Given the description of an element on the screen output the (x, y) to click on. 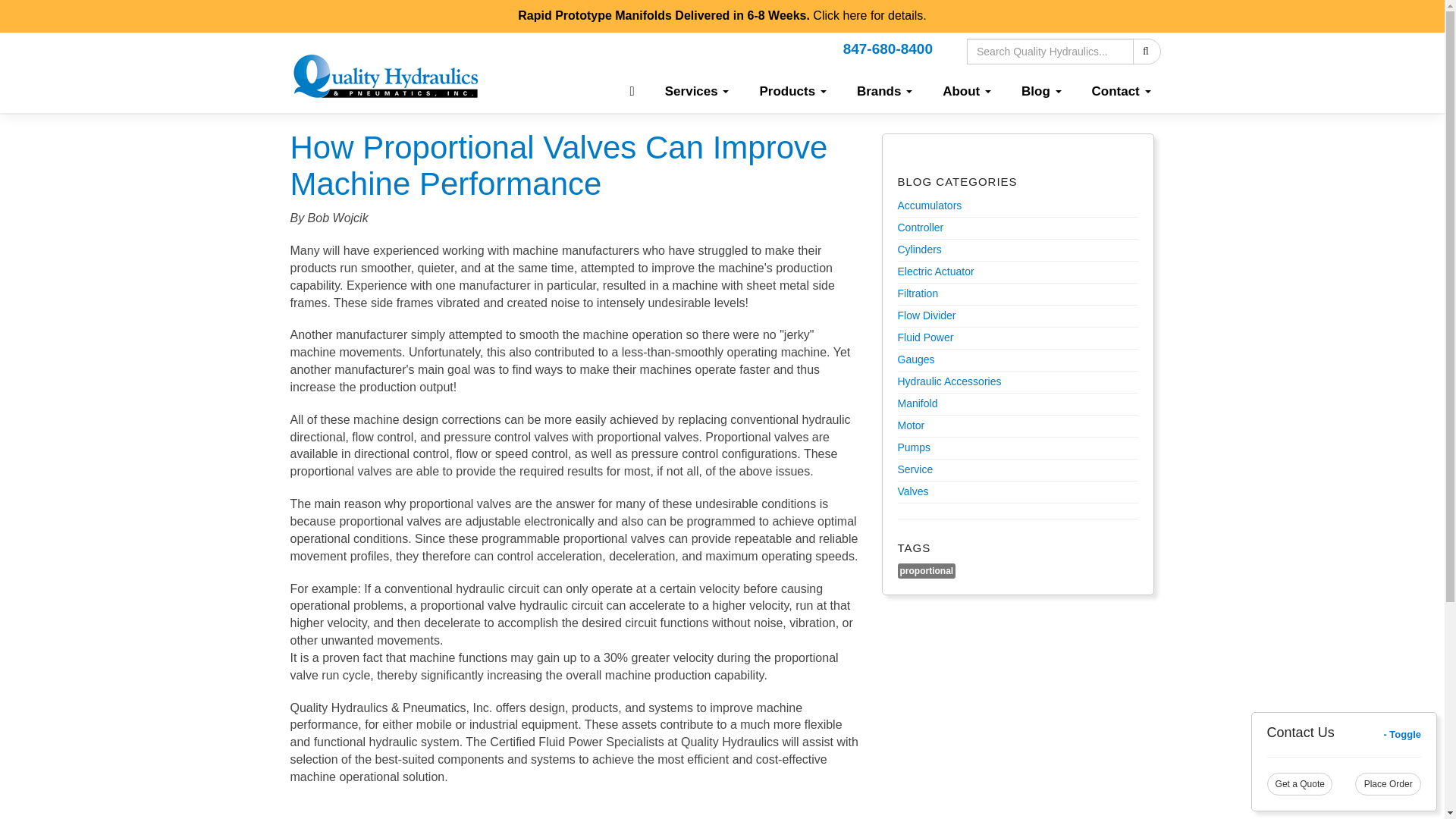
Services (696, 91)
847-680-8400 (888, 48)
Products (792, 91)
